Given the description of an element on the screen output the (x, y) to click on. 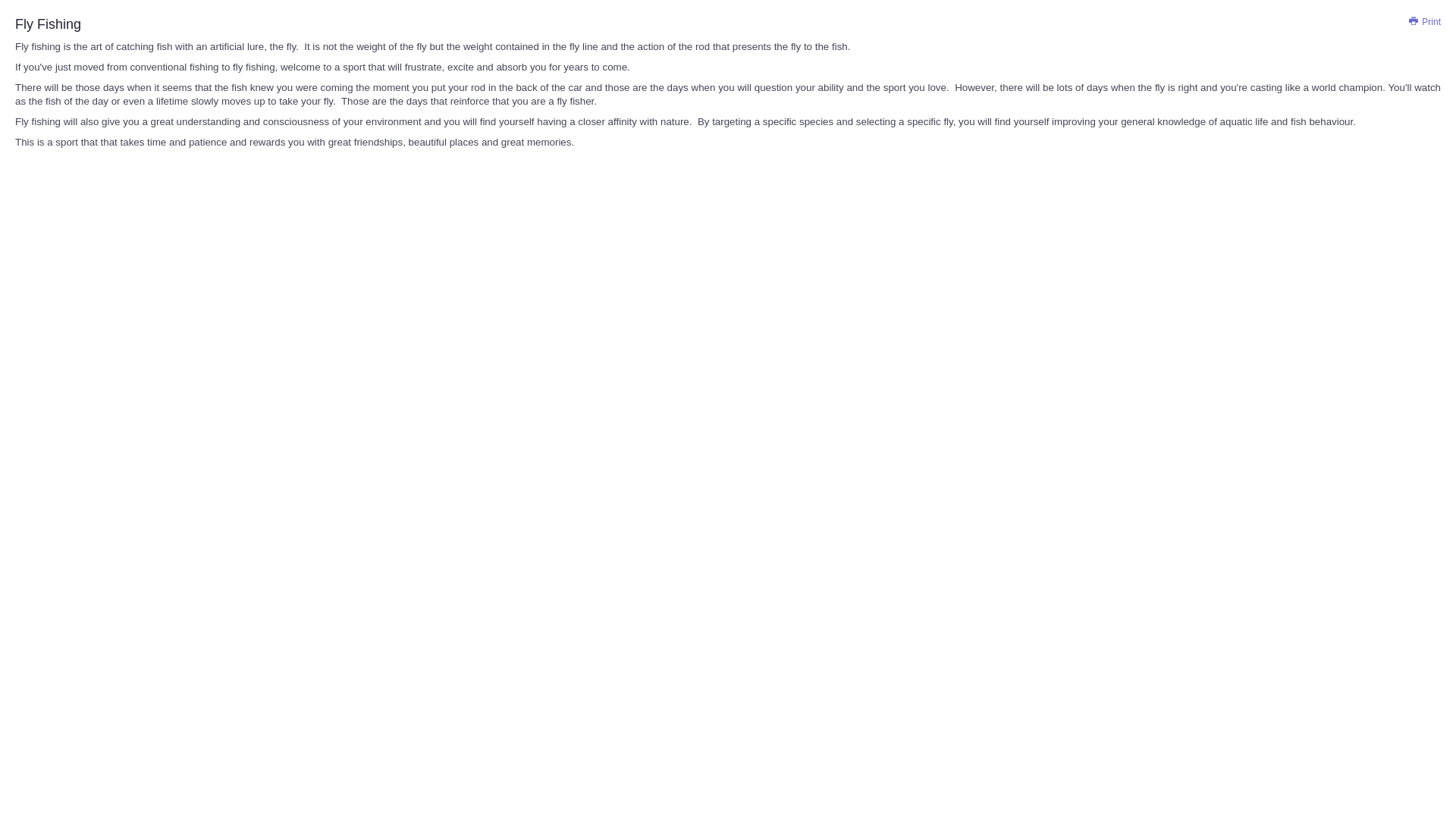
Print Element type: text (1424, 21)
